Given the description of an element on the screen output the (x, y) to click on. 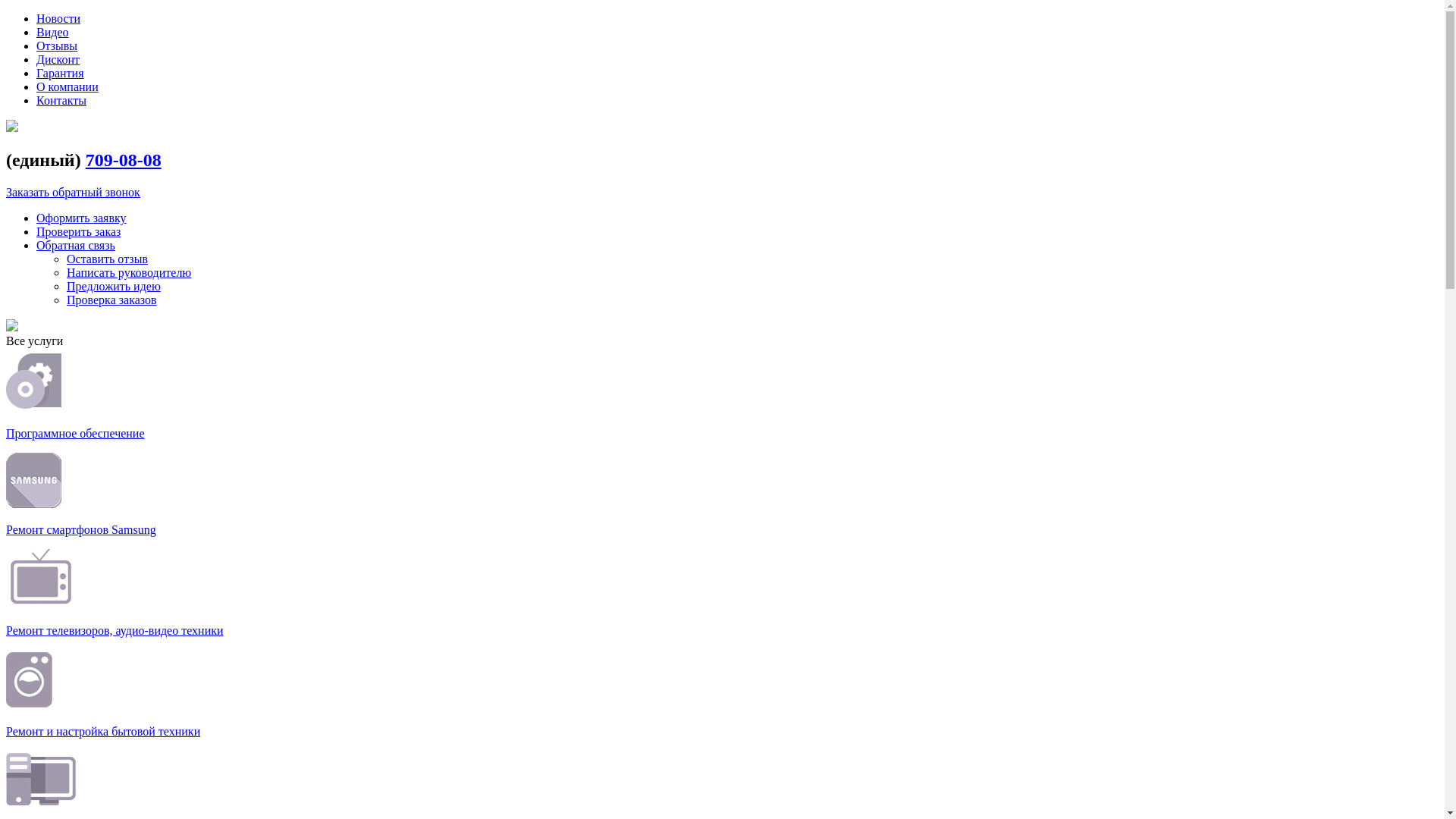
709-08-08 Element type: text (123, 159)
